Given the description of an element on the screen output the (x, y) to click on. 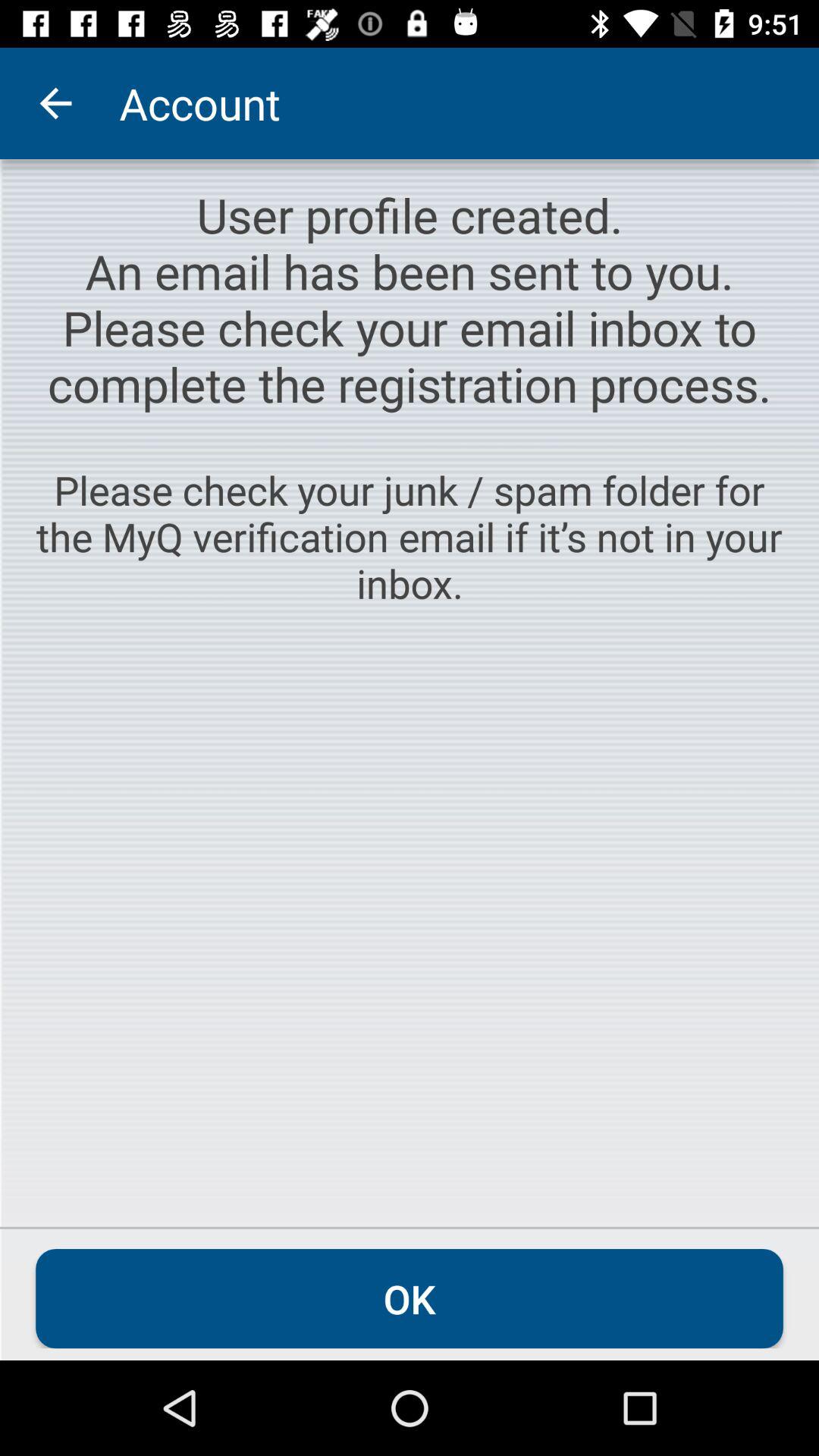
launch ok icon (409, 1298)
